Given the description of an element on the screen output the (x, y) to click on. 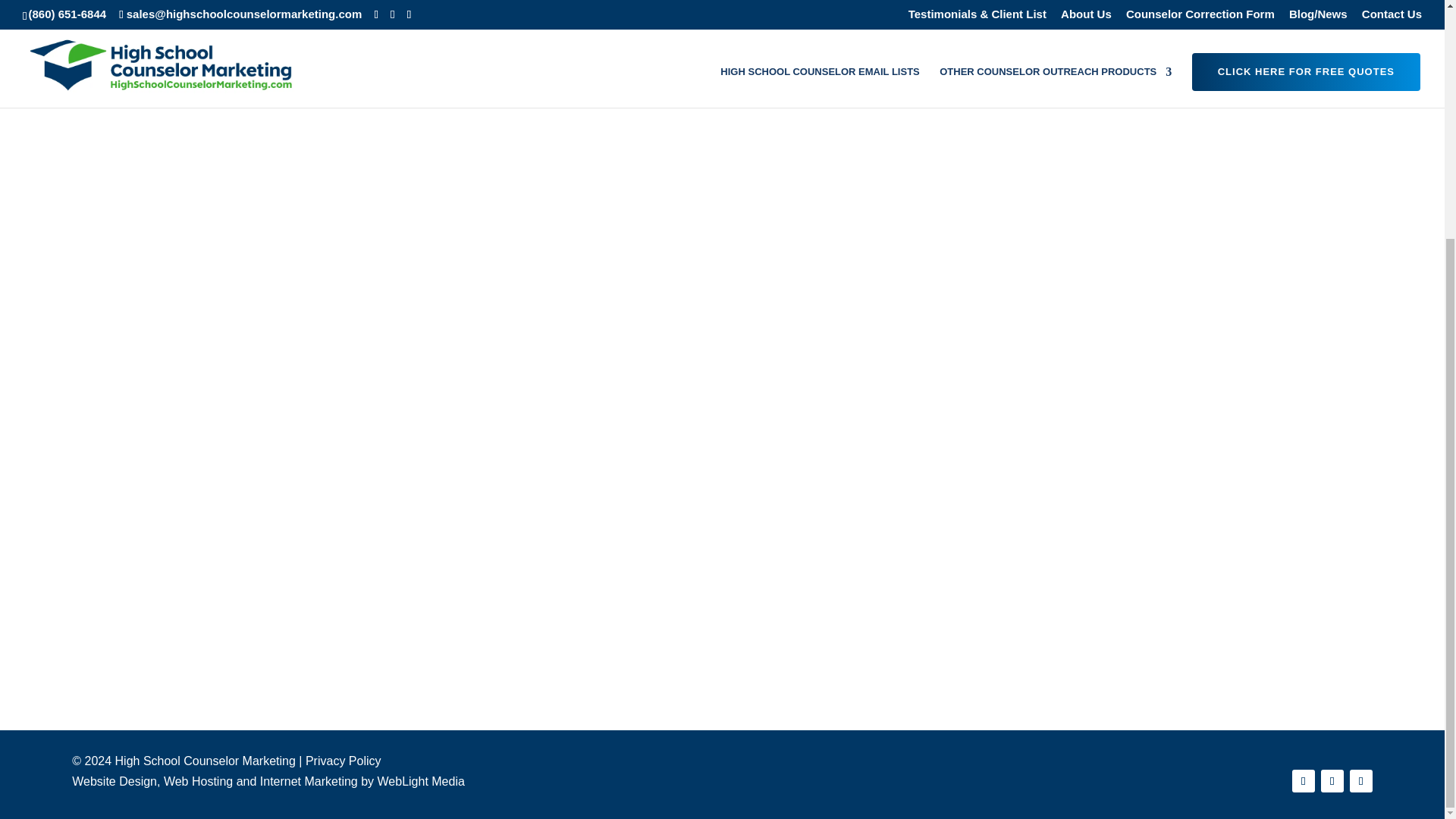
Follow on LinkedIn (1361, 780)
Follow on Facebook (1303, 780)
Follow on X (1331, 780)
